Given the description of an element on the screen output the (x, y) to click on. 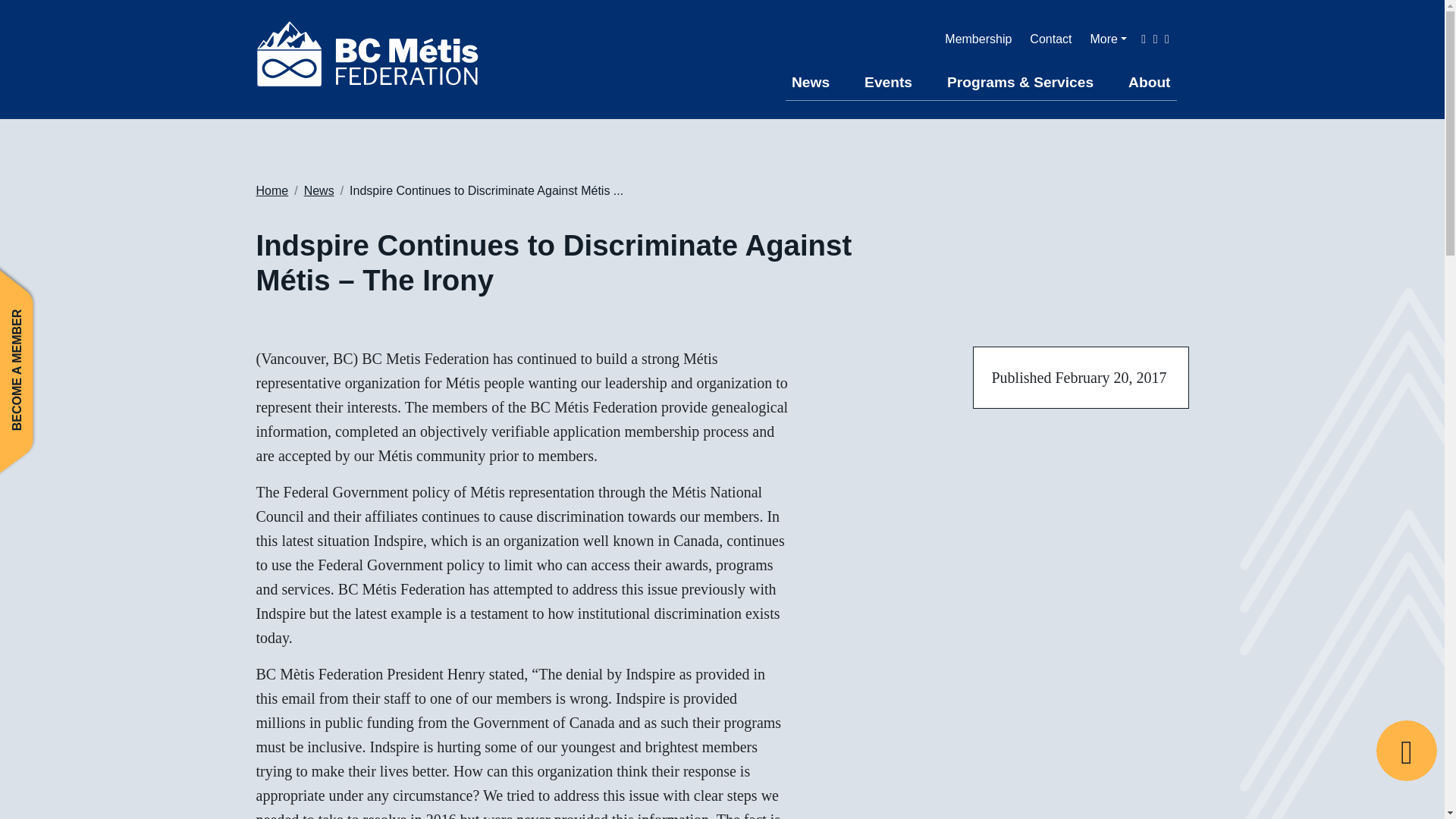
Contact (1050, 39)
Events (888, 82)
News (319, 190)
Membership (977, 39)
Events (888, 82)
News (810, 82)
More (1107, 39)
Home (272, 190)
Contact (1050, 39)
News (810, 82)
